Given the description of an element on the screen output the (x, y) to click on. 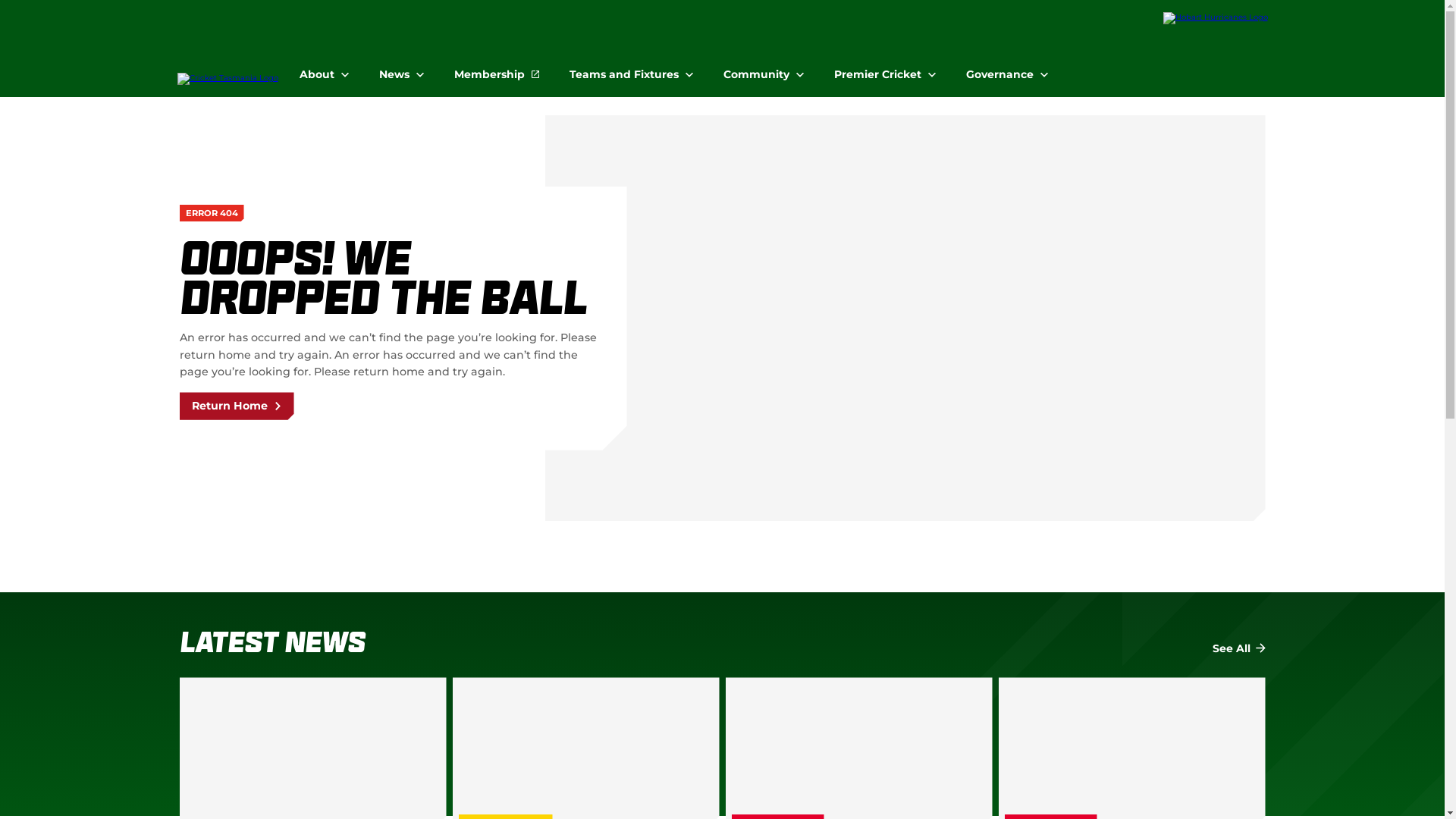
Community Element type: text (763, 68)
Governance Element type: text (1006, 68)
Membership
  (opens new window) Element type: text (495, 68)
Premier Cricket Element type: text (884, 68)
News Element type: text (401, 68)
Teams and Fixtures Element type: text (630, 68)
Return to Homepage Element type: hover (227, 51)
See All Element type: text (1237, 648)
About Element type: text (323, 68)
Return Home Element type: text (235, 405)
Hobart Hurricanes Logo Element type: hover (1215, 18)
